Given the description of an element on the screen output the (x, y) to click on. 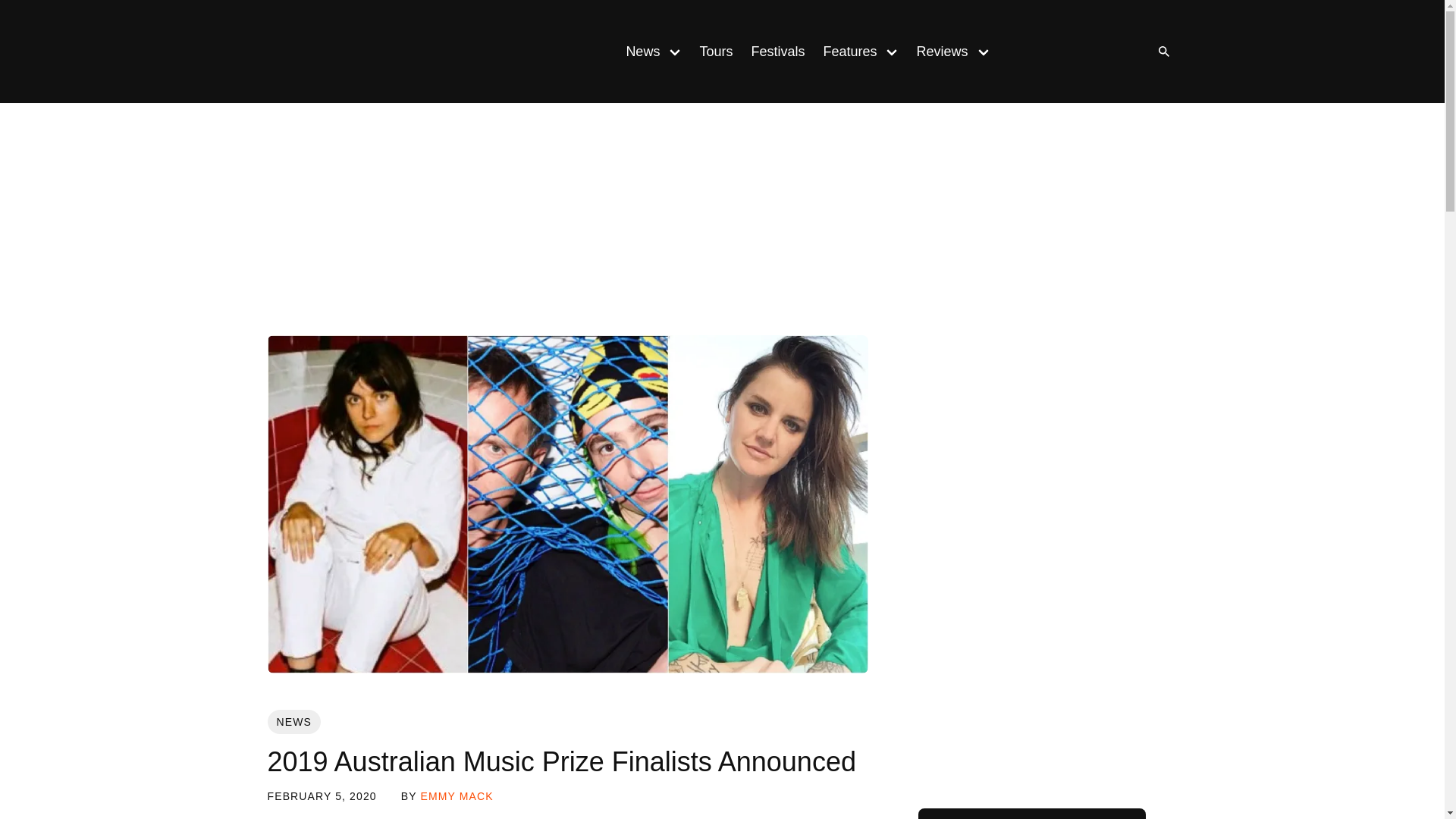
Reviews (937, 51)
Facebook (1079, 51)
NEWS (293, 722)
3rd party ad content (722, 222)
Festivals (777, 51)
Tours (715, 51)
Instagram (1048, 51)
Open menu (891, 51)
Features (844, 51)
Twitter (1109, 51)
